Given the description of an element on the screen output the (x, y) to click on. 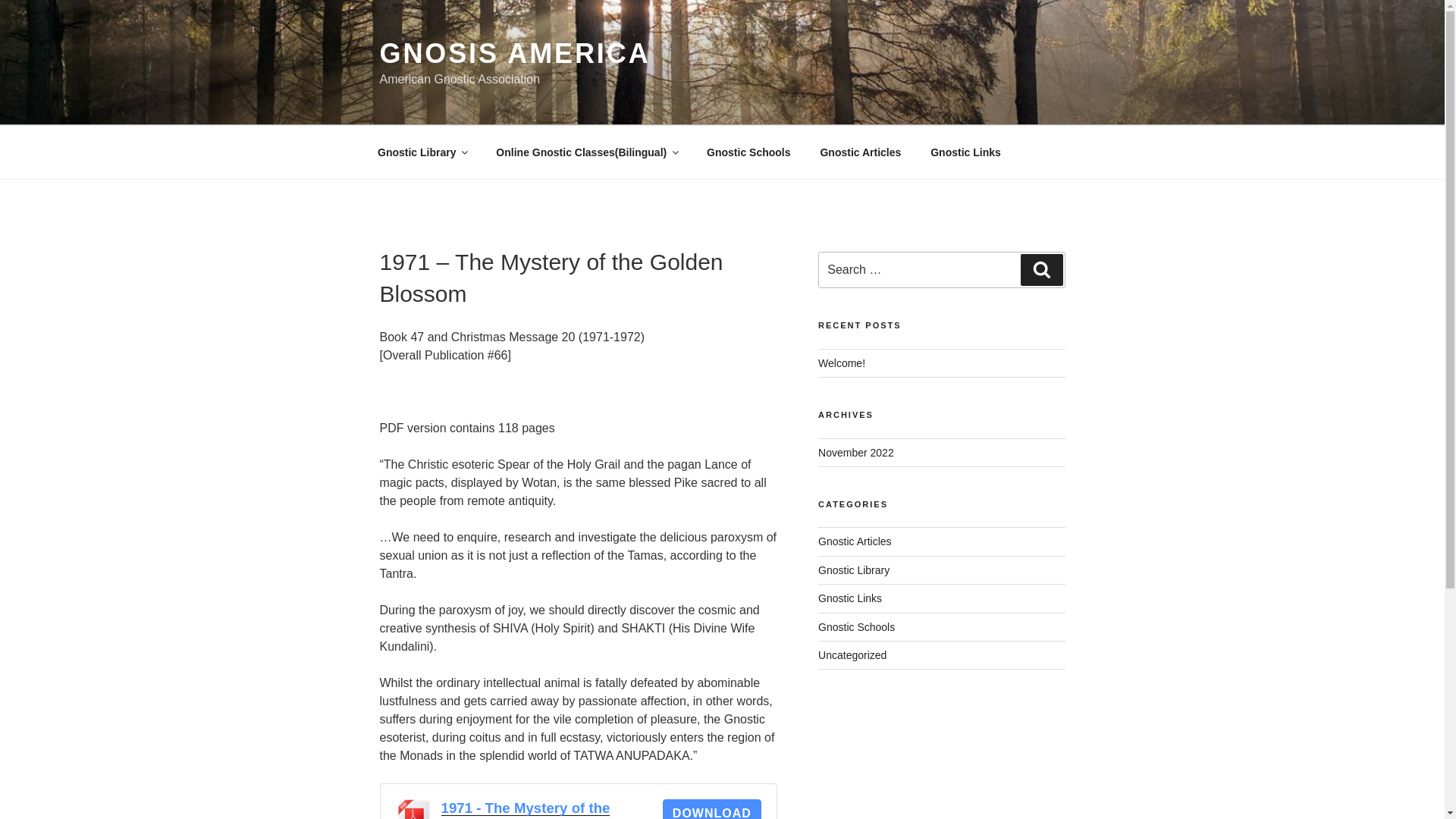
Gnostic Schools (856, 625)
Search (1041, 269)
Gnostic Library (421, 151)
DOWNLOAD (711, 809)
Gnostic Links (965, 151)
November 2022 (855, 452)
1971 - The Mystery of the Golden Blossom (525, 809)
Gnostic Articles (854, 541)
Gnostic Library (853, 570)
Welcome! (841, 363)
